Given the description of an element on the screen output the (x, y) to click on. 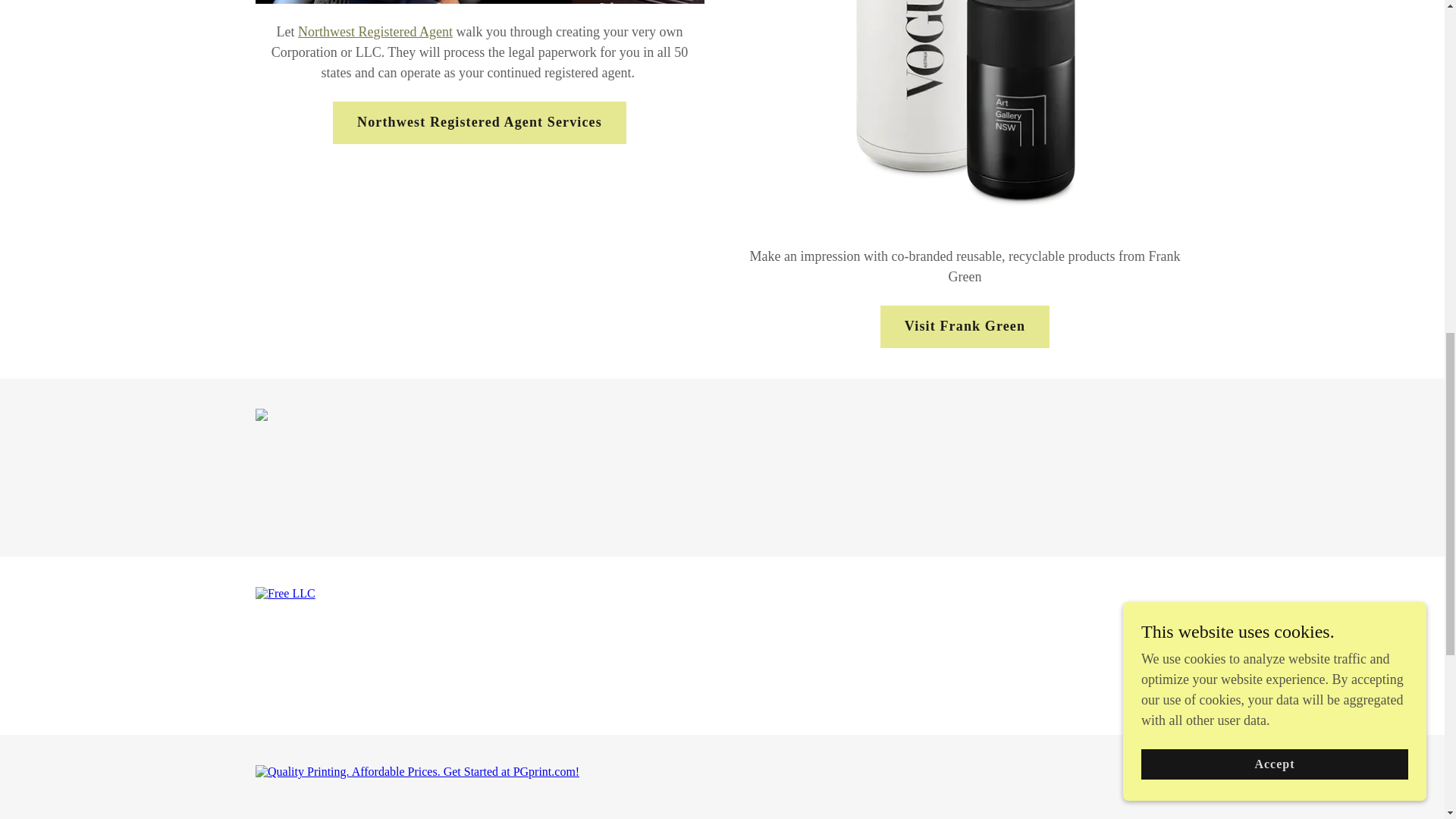
Northwest Registered Agent Services (479, 122)
Northwest Registered Agent (375, 31)
Visit Frank Green (964, 326)
